Given the description of an element on the screen output the (x, y) to click on. 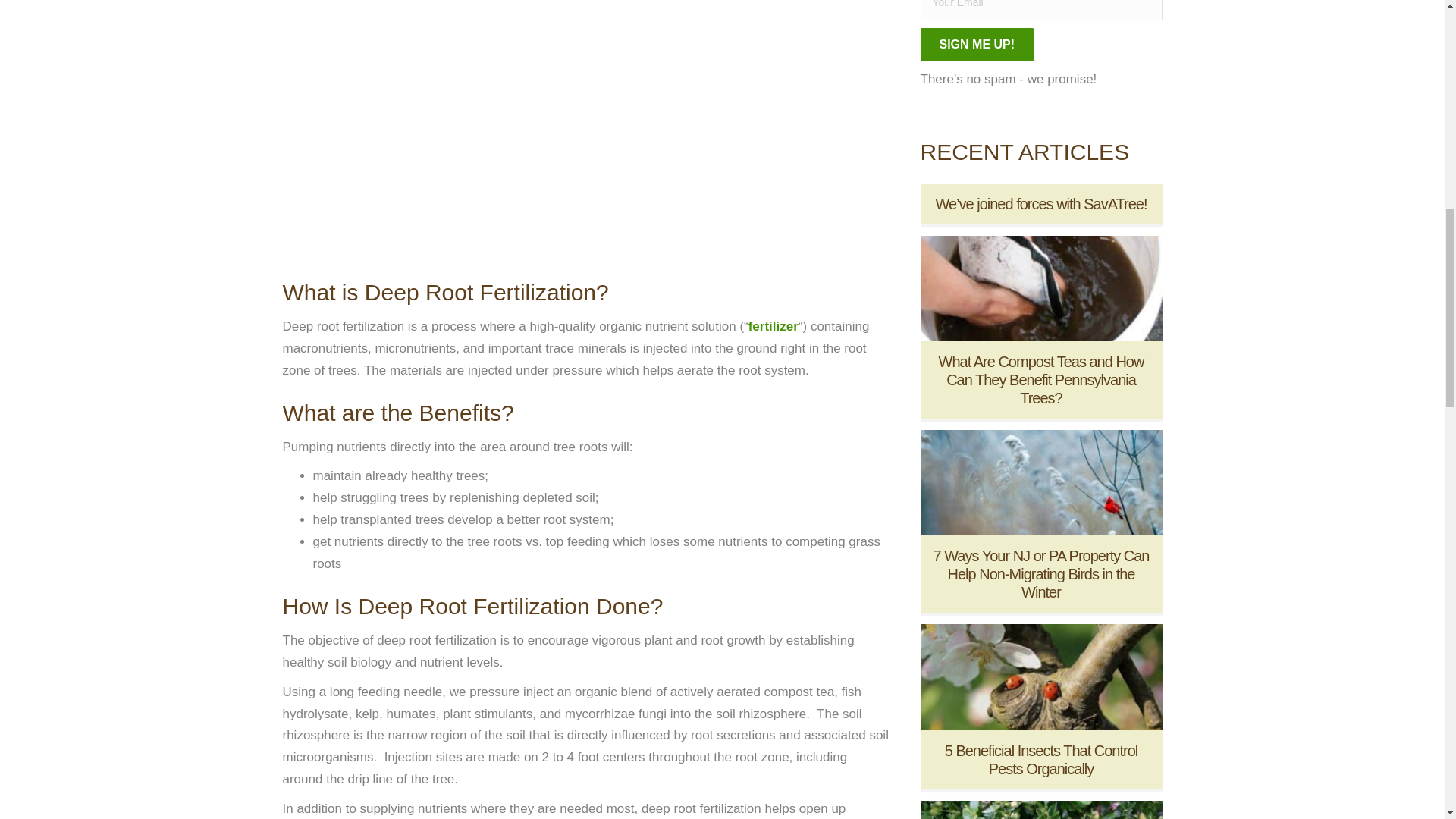
5 Beneficial Insects That Control Pests Organically (1041, 759)
5 Beneficial Insects That Control Pests Organically (1040, 676)
fertilizer (772, 326)
